Given the description of an element on the screen output the (x, y) to click on. 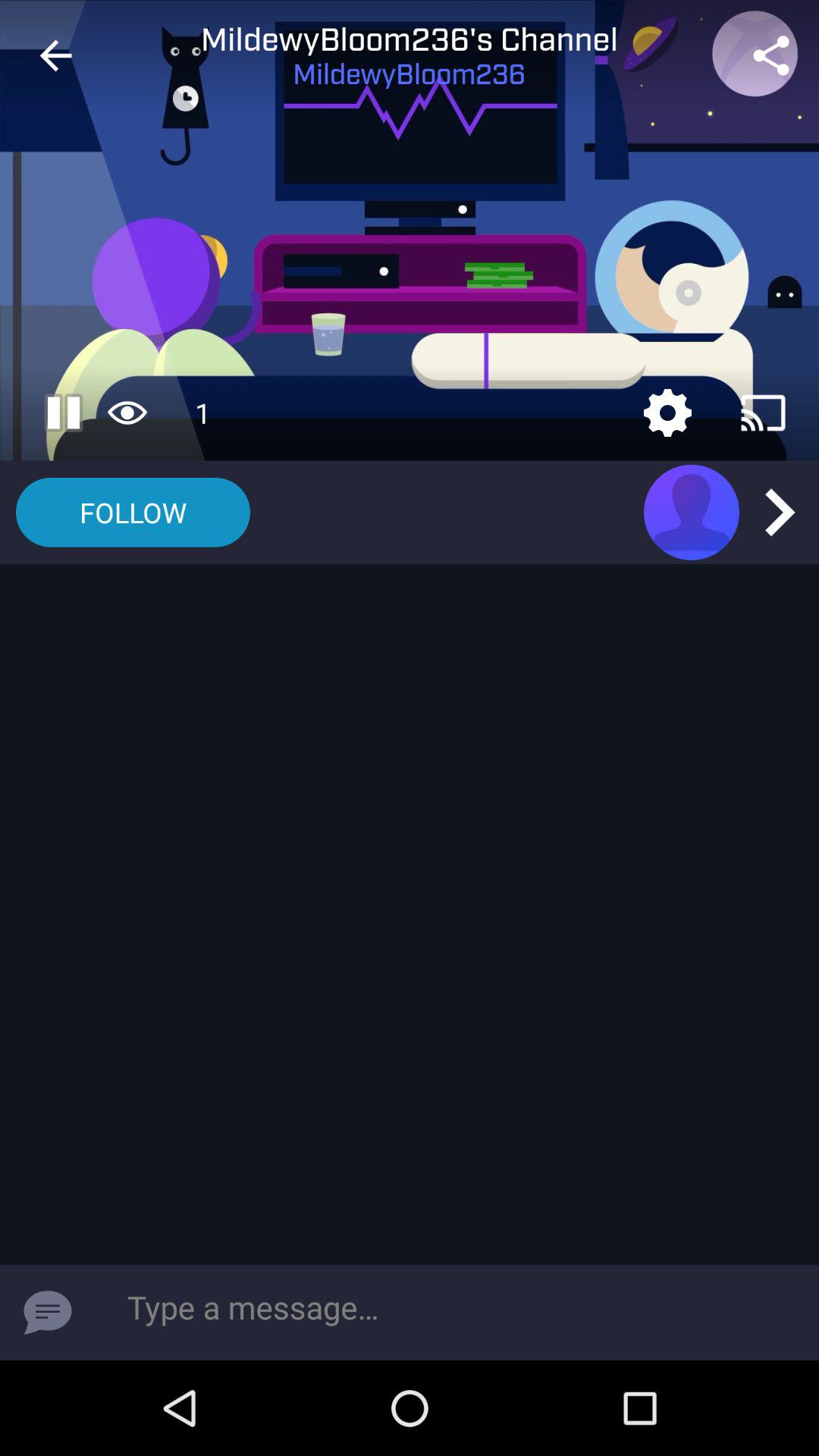
press icon on the left (132, 512)
